Given the description of an element on the screen output the (x, y) to click on. 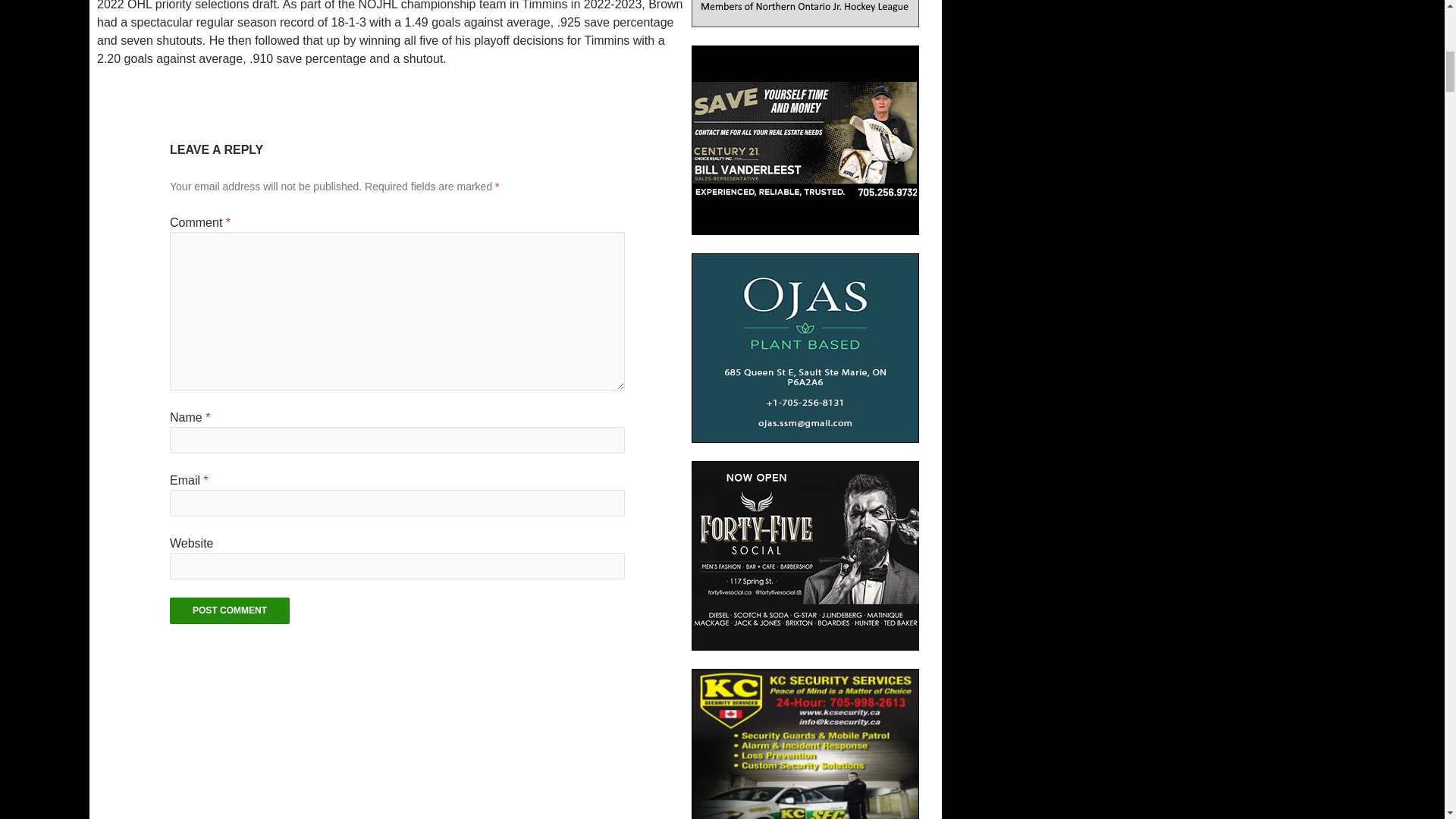
Post Comment (229, 610)
